Given the description of an element on the screen output the (x, y) to click on. 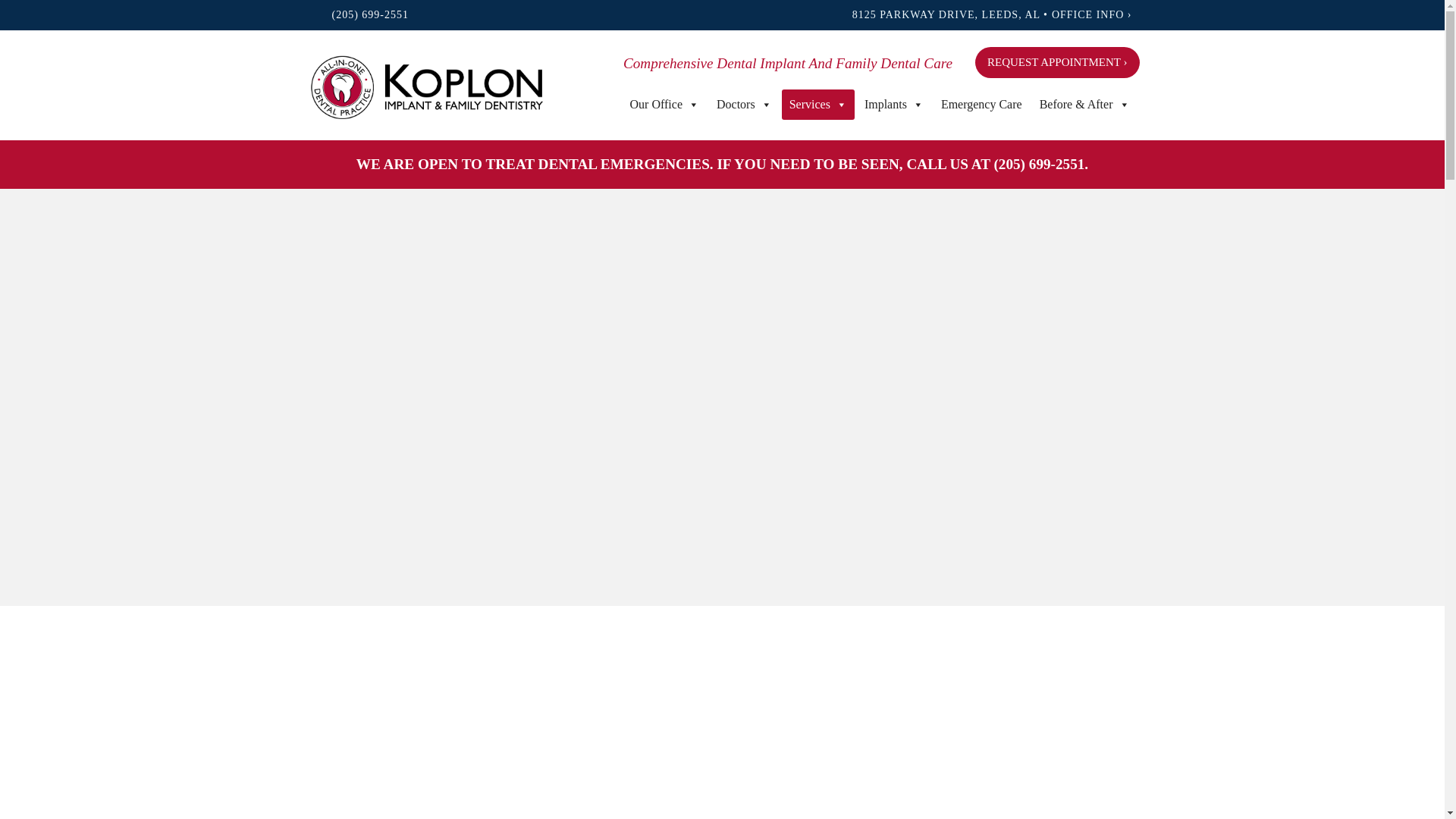
Services (817, 104)
Implants (894, 104)
Doctors (743, 104)
Our Office (664, 104)
